Given the description of an element on the screen output the (x, y) to click on. 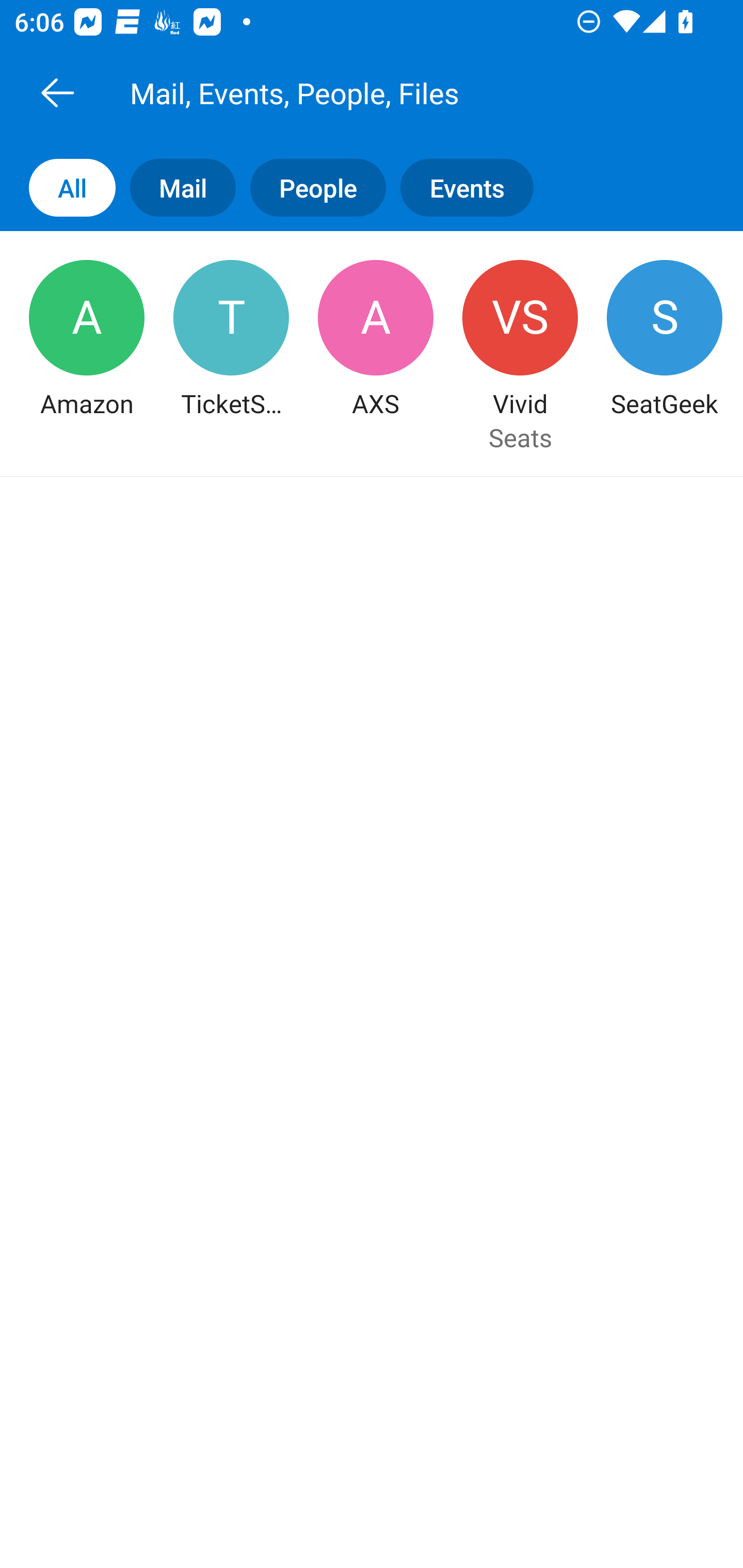
Back (57, 92)
Mail, Events, People, Files (394, 92)
Mail (175, 187)
People (310, 187)
Events (473, 187)
